Given the description of an element on the screen output the (x, y) to click on. 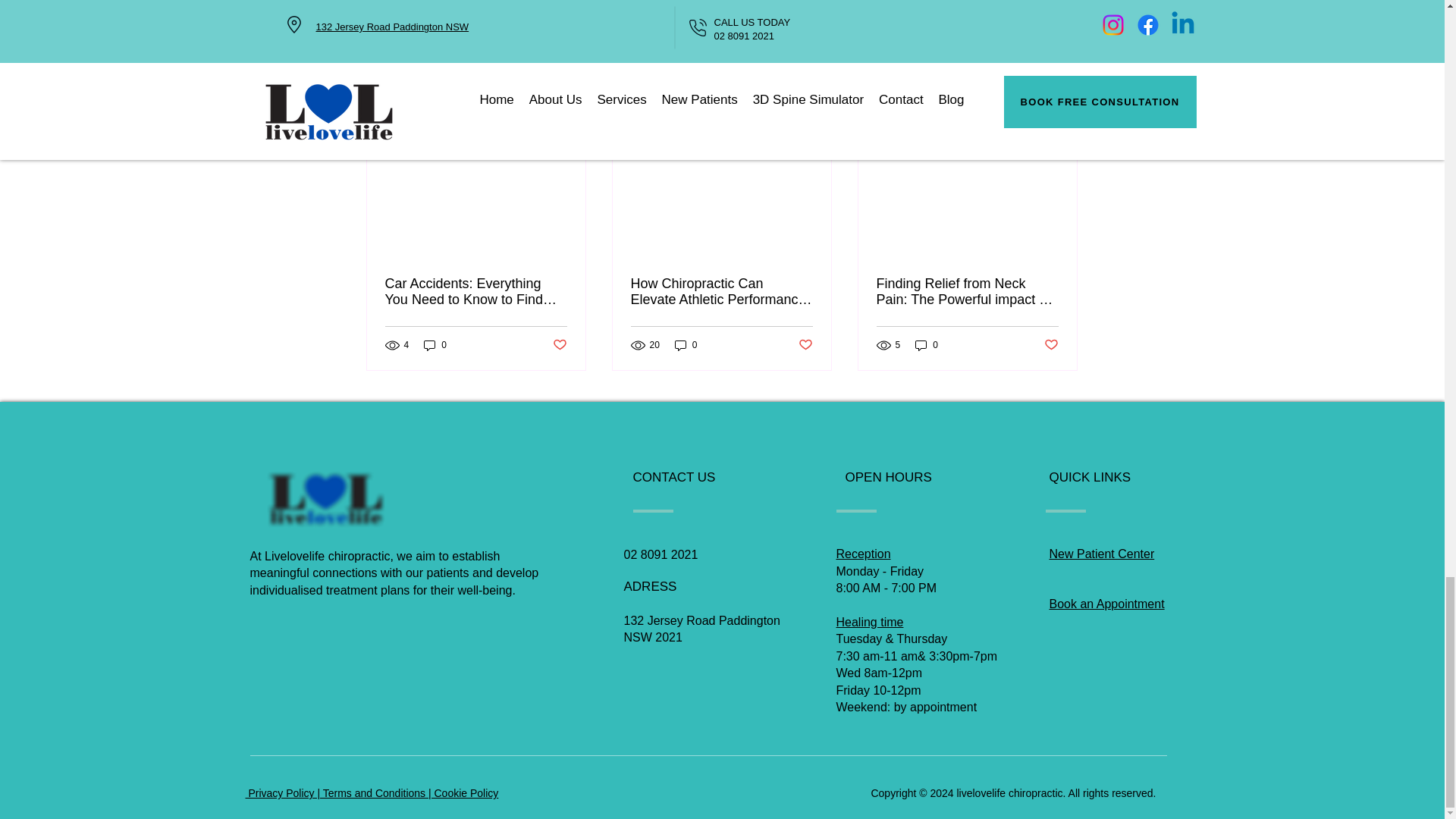
See All (1061, 107)
Car Accidents: Everything You Need to Know to Find Relief (476, 291)
Post not marked as liked (558, 344)
0 (435, 345)
Post not marked as liked (995, 25)
